Given the description of an element on the screen output the (x, y) to click on. 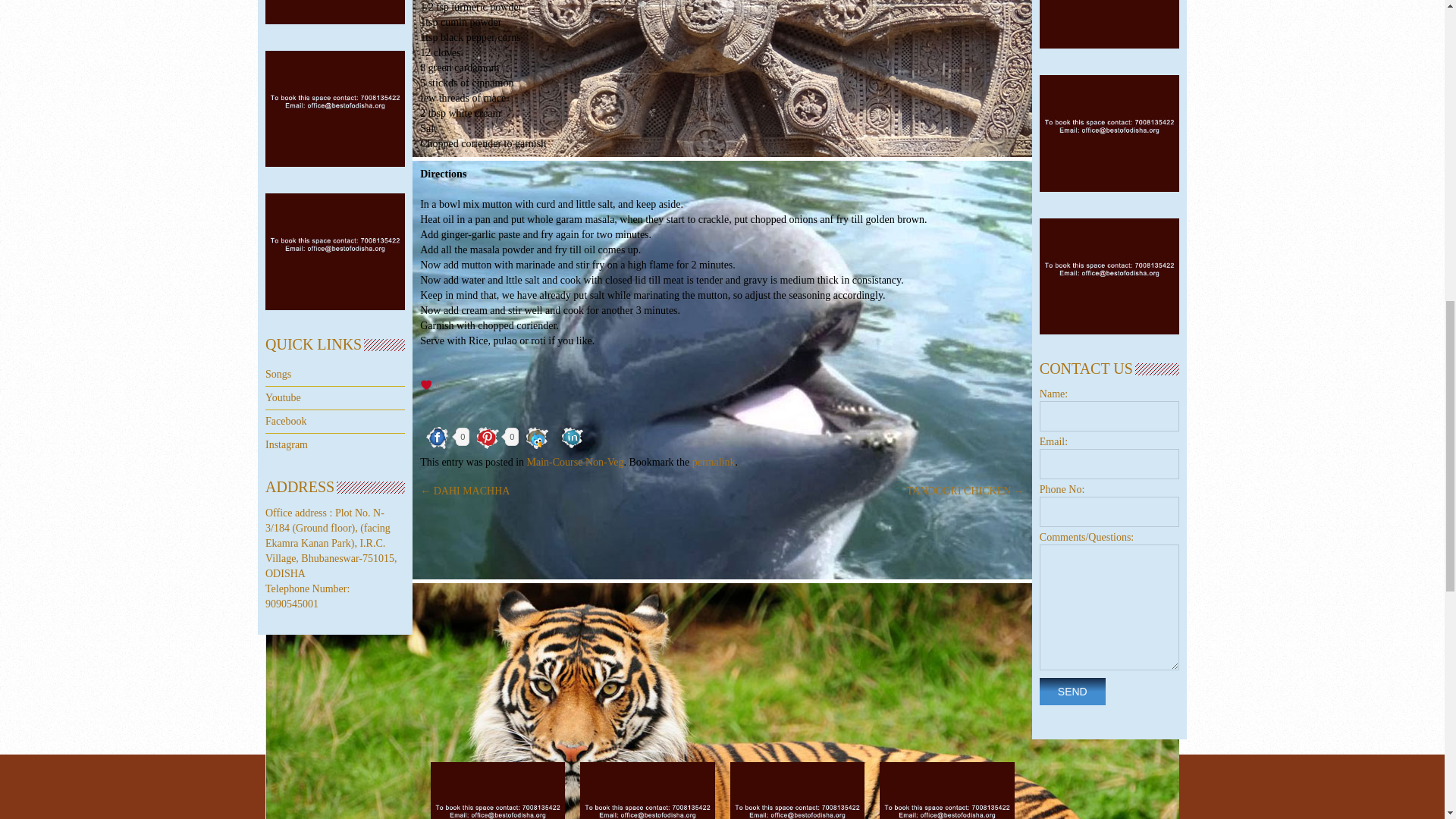
Permalink to MUTTON ROGAN JOSH (714, 461)
Pinterest (486, 437)
Facebook (437, 437)
LinkedIn (571, 437)
Twitter (536, 437)
Send (1072, 691)
